Given the description of an element on the screen output the (x, y) to click on. 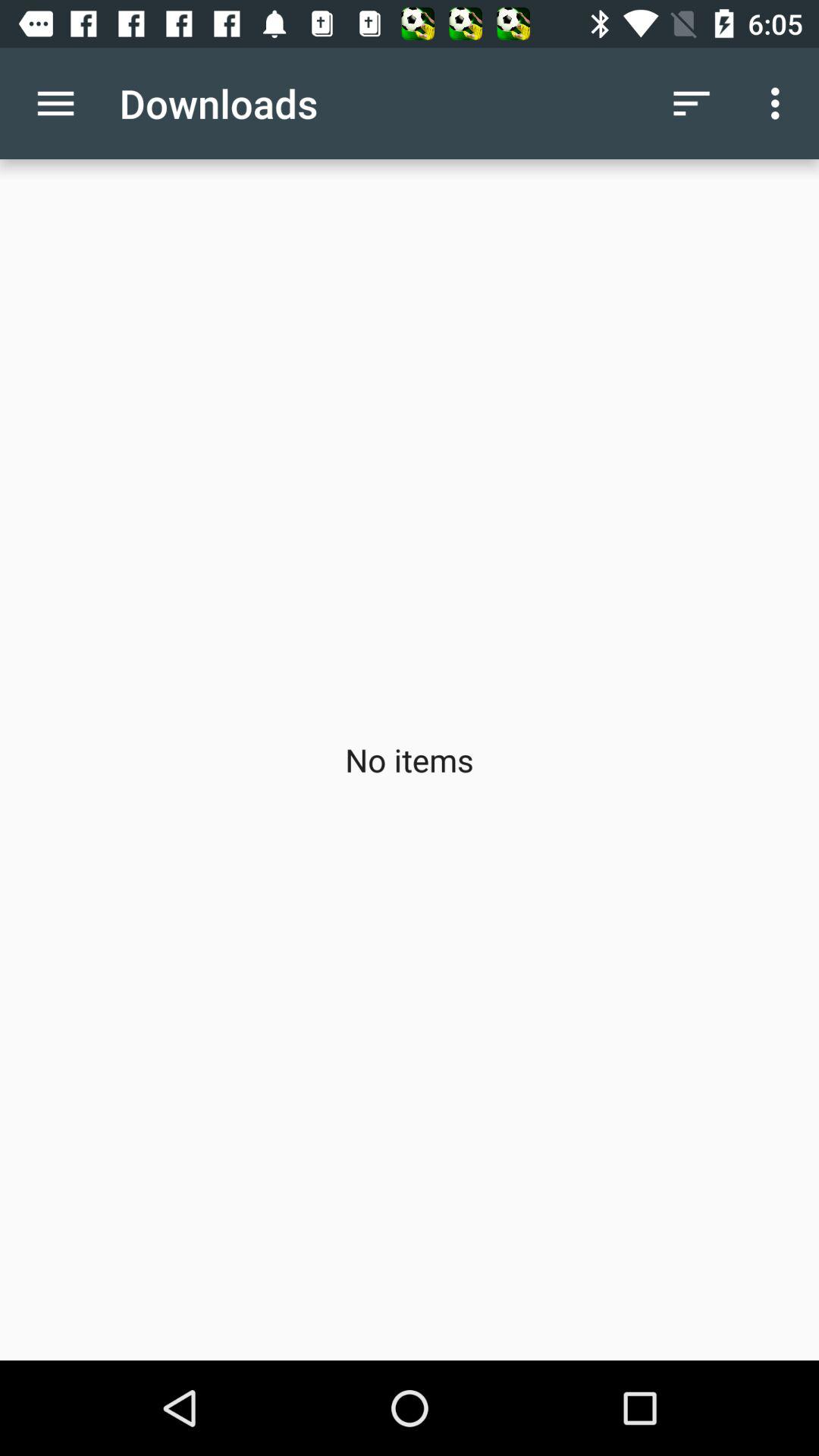
launch icon next to the downloads icon (691, 103)
